Given the description of an element on the screen output the (x, y) to click on. 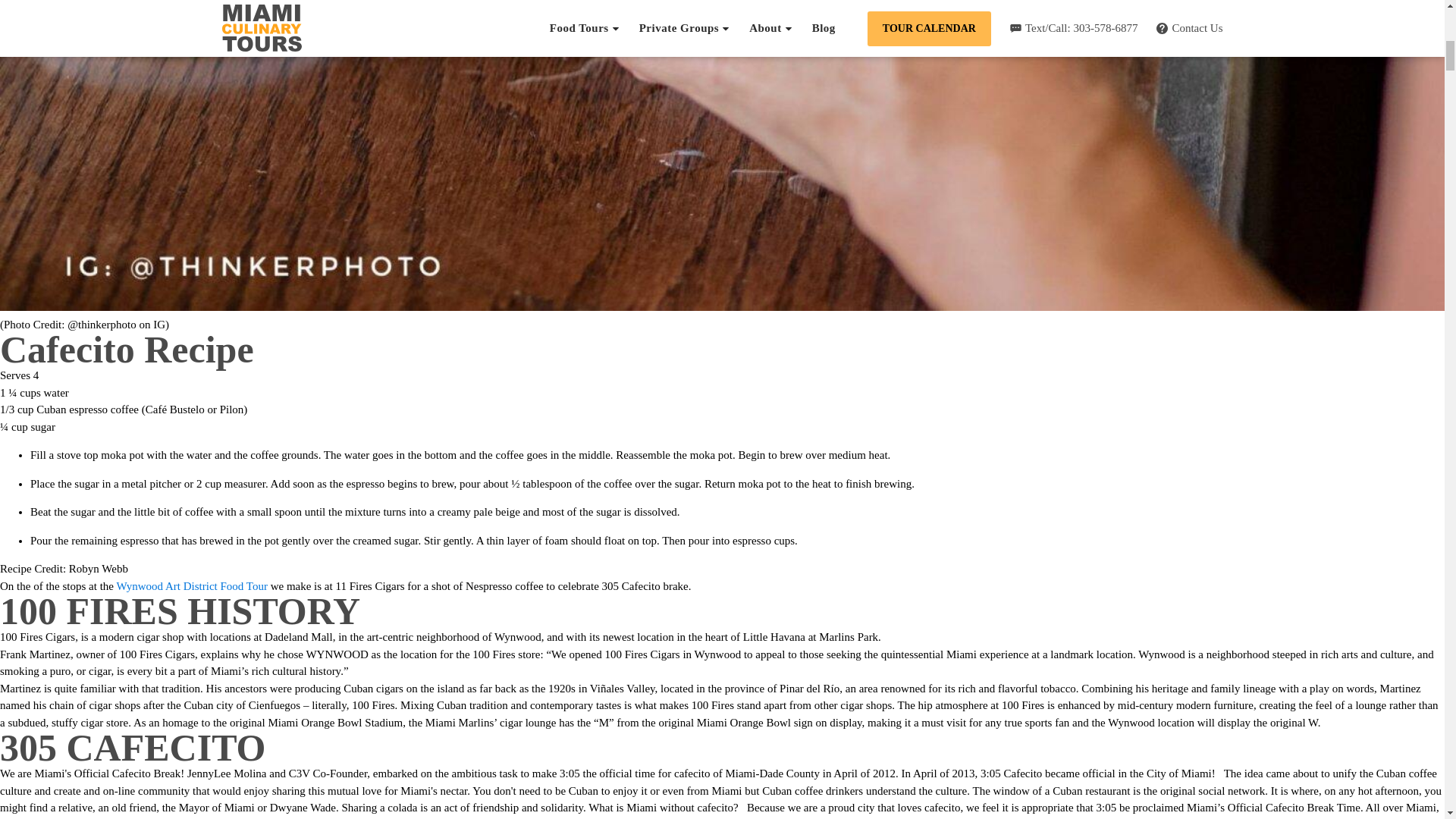
Wynwood art district food tour (191, 585)
Wynwood Art District Food Tour (191, 585)
FareHarbor (1342, 64)
